Given the description of an element on the screen output the (x, y) to click on. 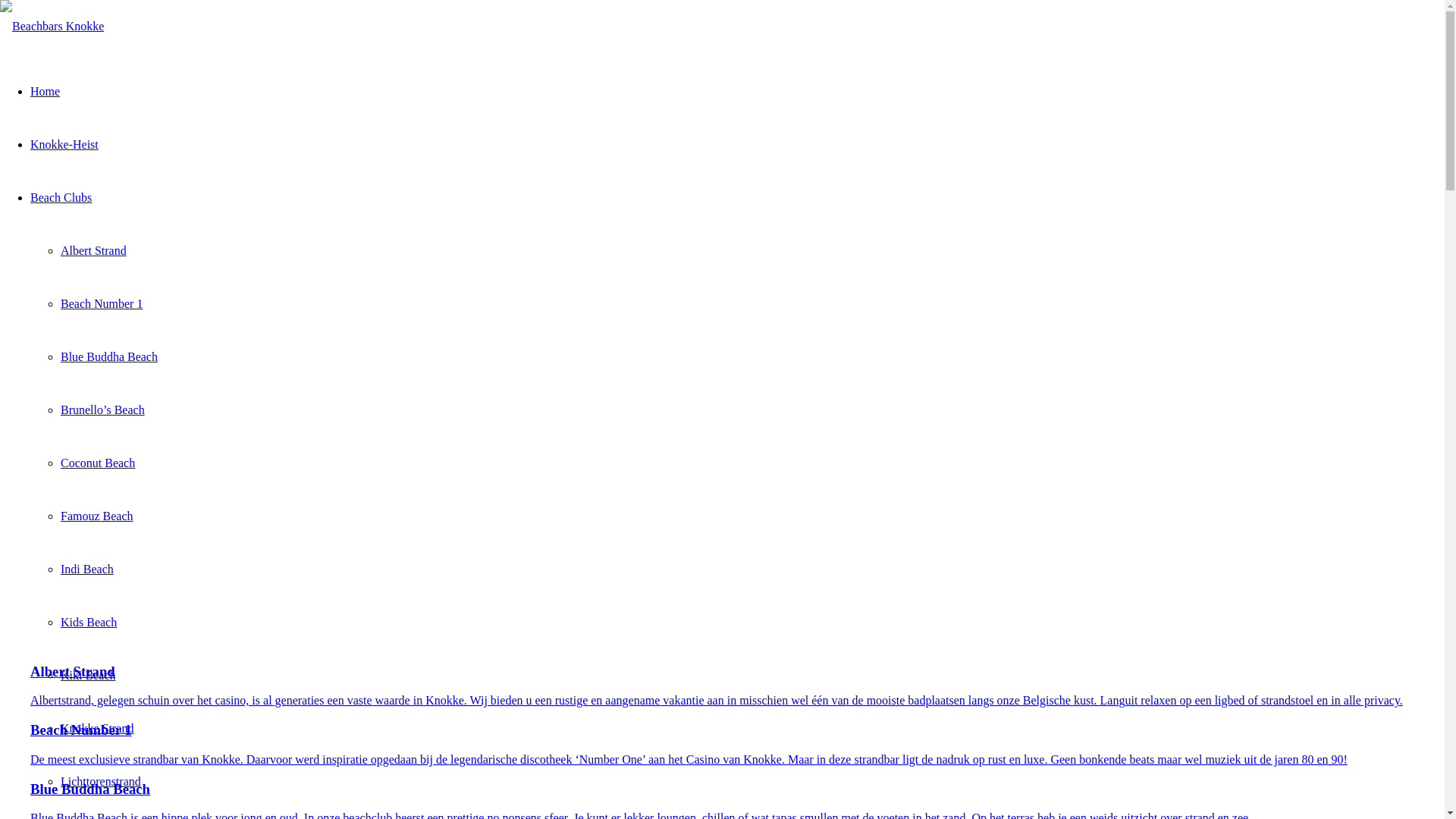
logo Element type: hover (51, 26)
Famouz Beach Element type: text (96, 515)
Coconut Beach Element type: text (97, 462)
Knokke-Heist Element type: text (64, 144)
Home Element type: text (44, 90)
Blue Buddha Beach Element type: text (108, 356)
Beach Number 1 Element type: text (101, 303)
Kiki Beach Element type: text (87, 674)
Kids Beach Element type: text (88, 621)
Albert Strand Element type: text (93, 250)
Beach Clubs Element type: text (60, 197)
Knokke Strand Element type: text (96, 727)
Lichttorenstrand Element type: text (100, 781)
Indi Beach Element type: text (86, 568)
